Given the description of an element on the screen output the (x, y) to click on. 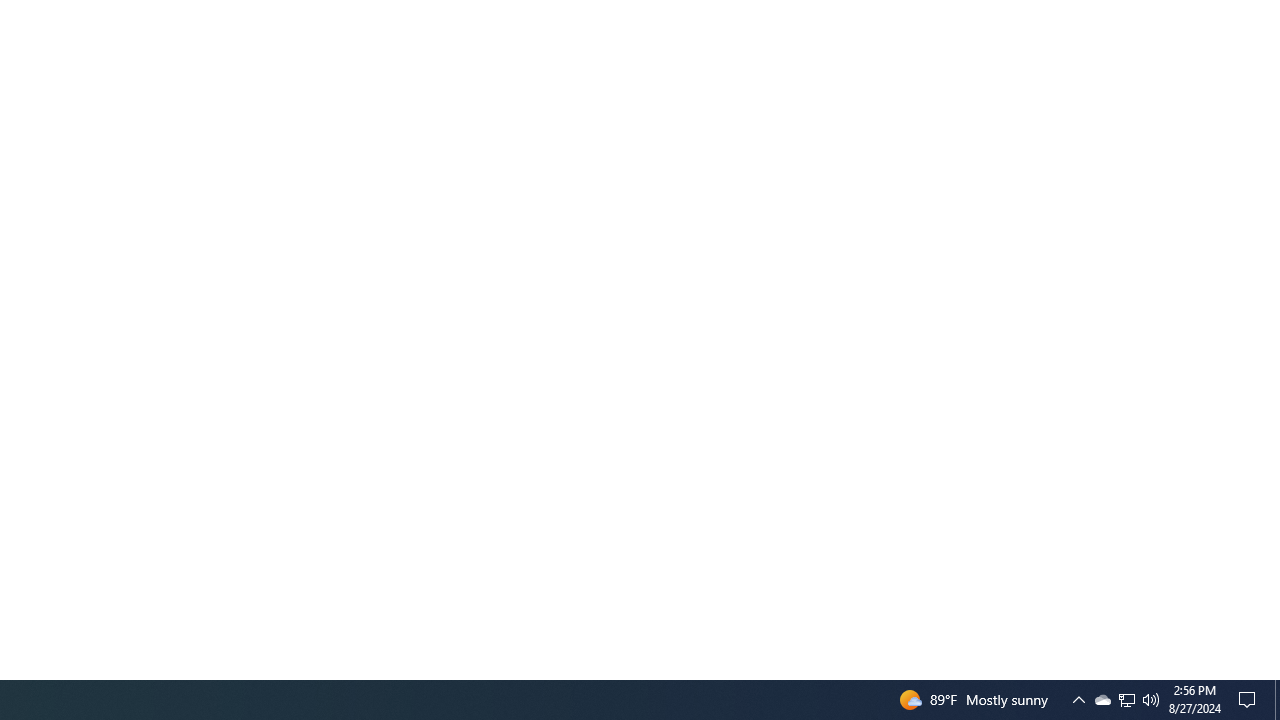
User Promoted Notification Area (1126, 699)
Q2790: 100% (1102, 699)
Notification Chevron (1151, 699)
Action Center, No new notifications (1078, 699)
Show desktop (1250, 699)
